Given the description of an element on the screen output the (x, y) to click on. 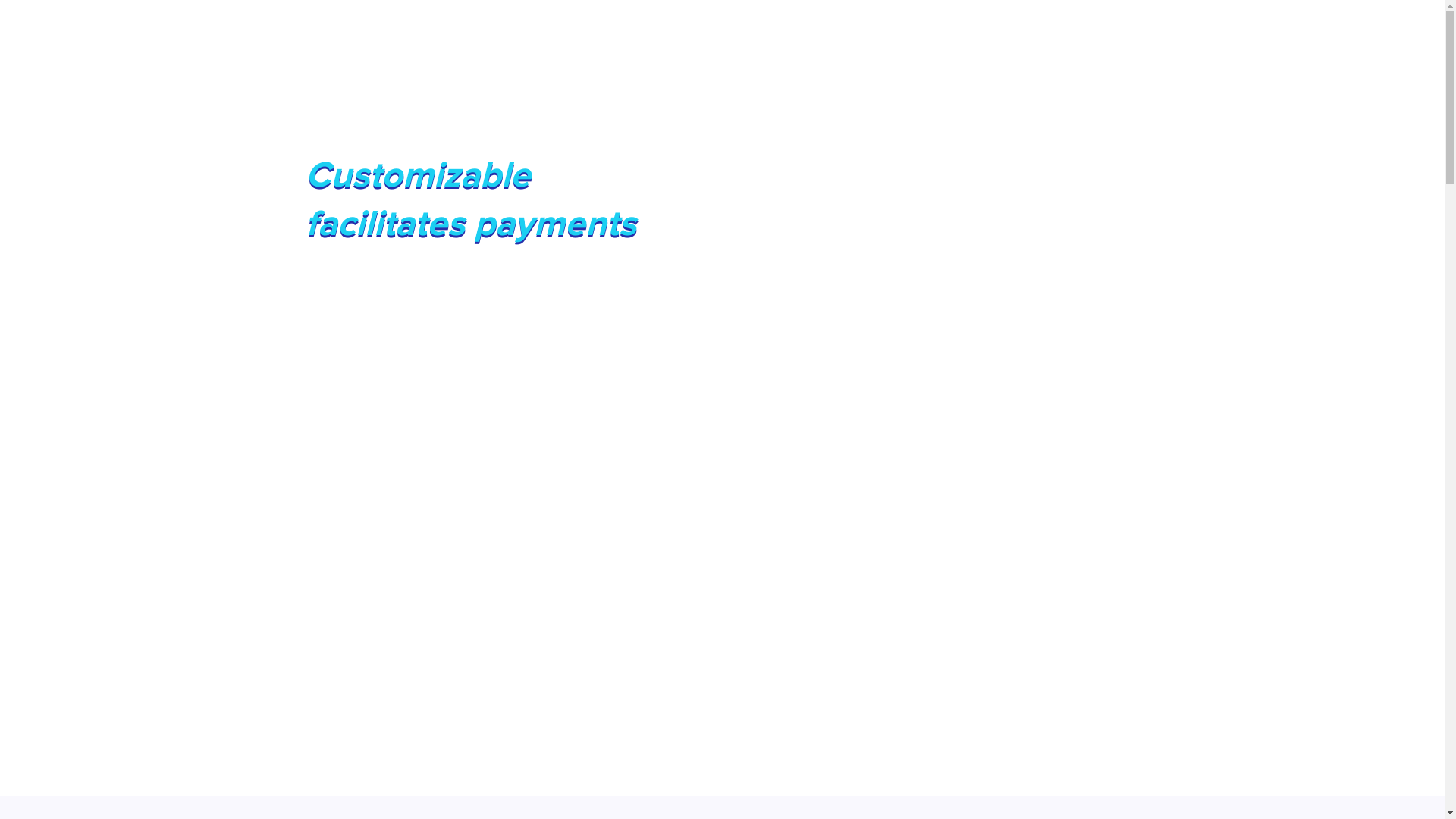
APIs Element type: text (910, 30)
Contact Element type: text (1047, 30)
FAQ Element type: text (1112, 30)
Solutions Element type: text (843, 30)
Platform Element type: text (975, 30)
